Given the description of an element on the screen output the (x, y) to click on. 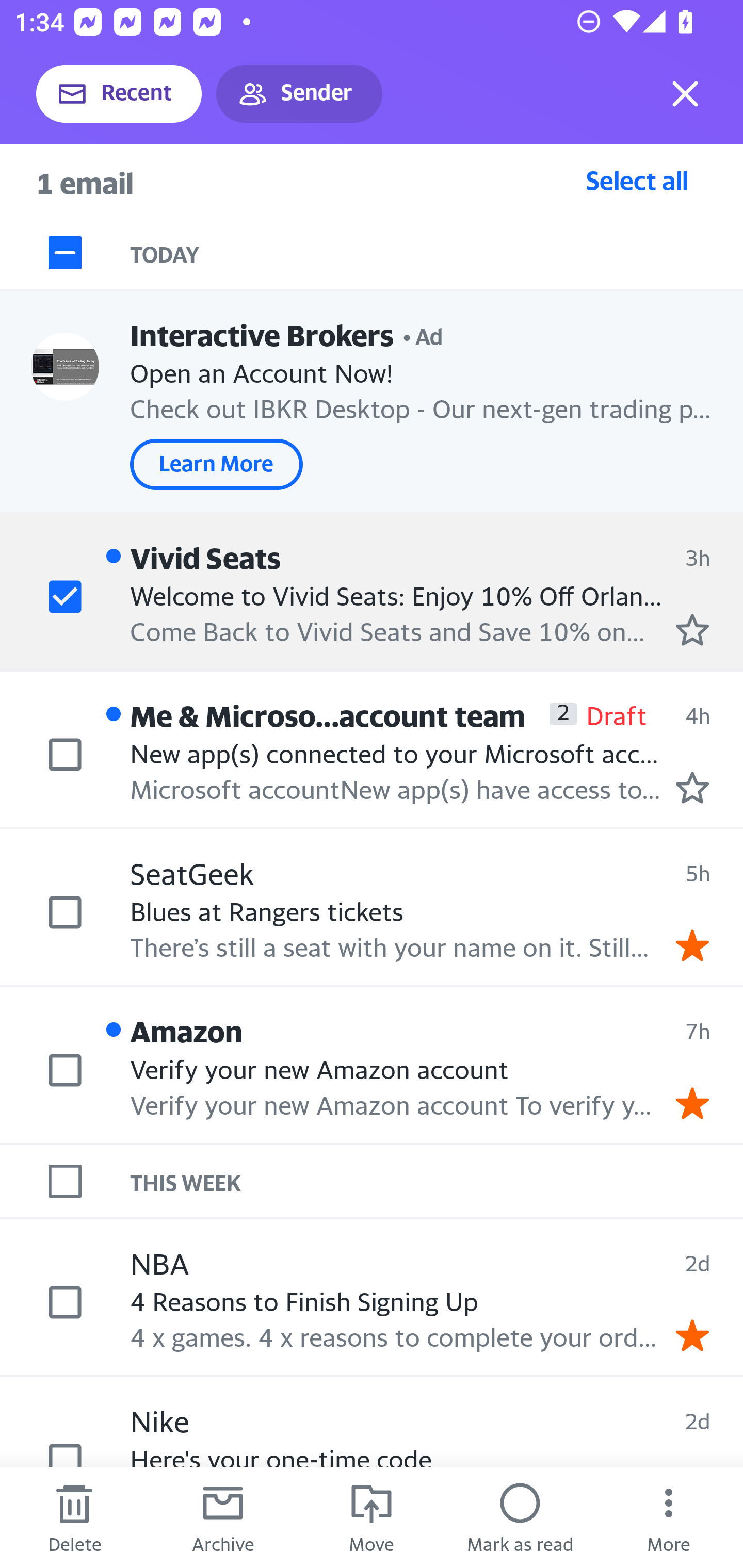
Sender (299, 93)
Exit selection mode (684, 93)
Select all (637, 180)
TODAY (436, 252)
Mark as starred. (692, 629)
Mark as starred. (692, 787)
Remove star. (692, 944)
Remove star. (692, 1103)
THIS WEEK (436, 1181)
Remove star. (692, 1335)
Delete (74, 1517)
Archive (222, 1517)
Move (371, 1517)
Mark as read (519, 1517)
More (668, 1517)
